Given the description of an element on the screen output the (x, y) to click on. 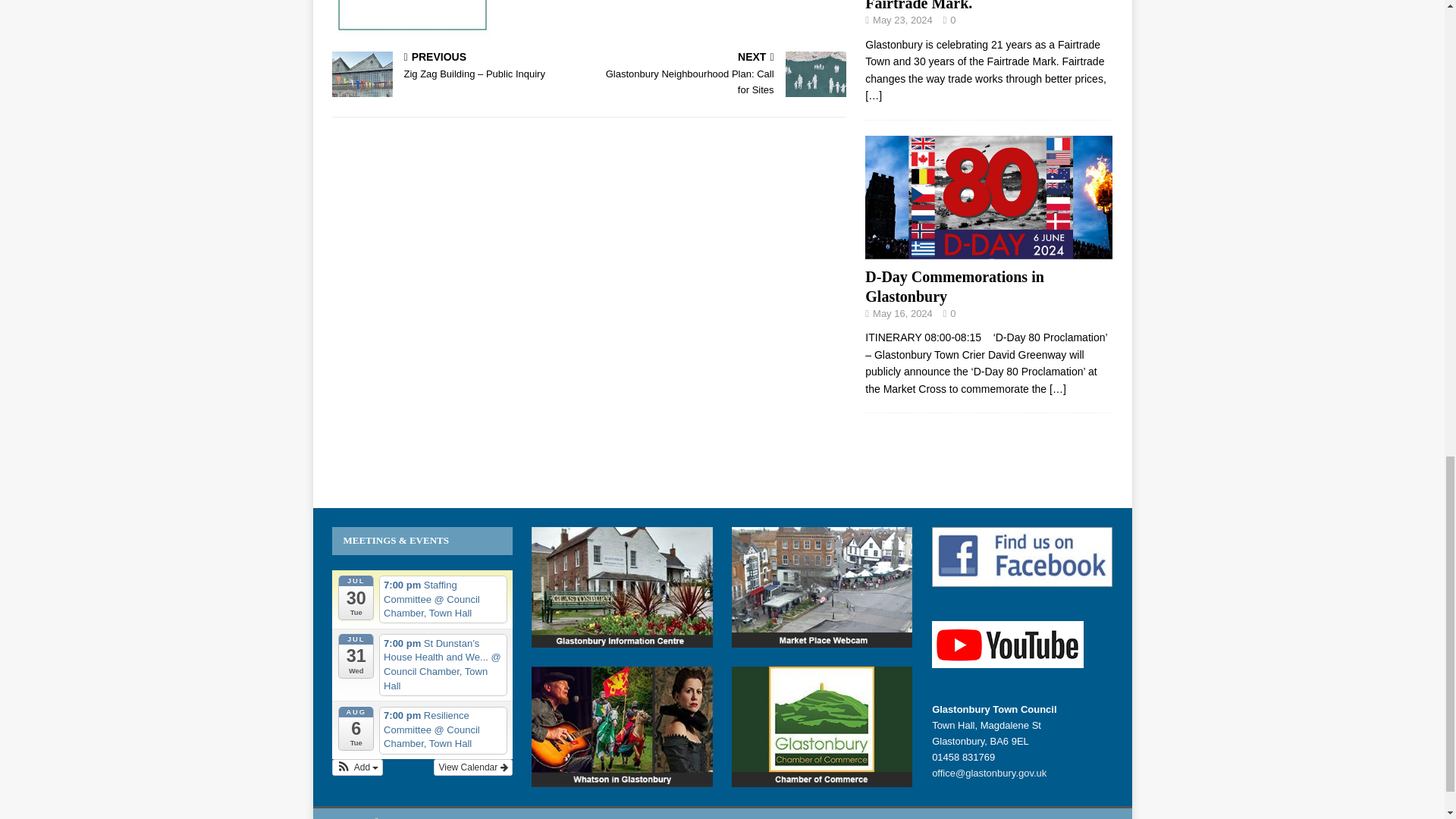
D-Day Commemorations in Glastonbury (988, 250)
D-Day Commemorations in Glastonbury (1057, 388)
D-Day Commemorations in Glastonbury (953, 286)
